Given the description of an element on the screen output the (x, y) to click on. 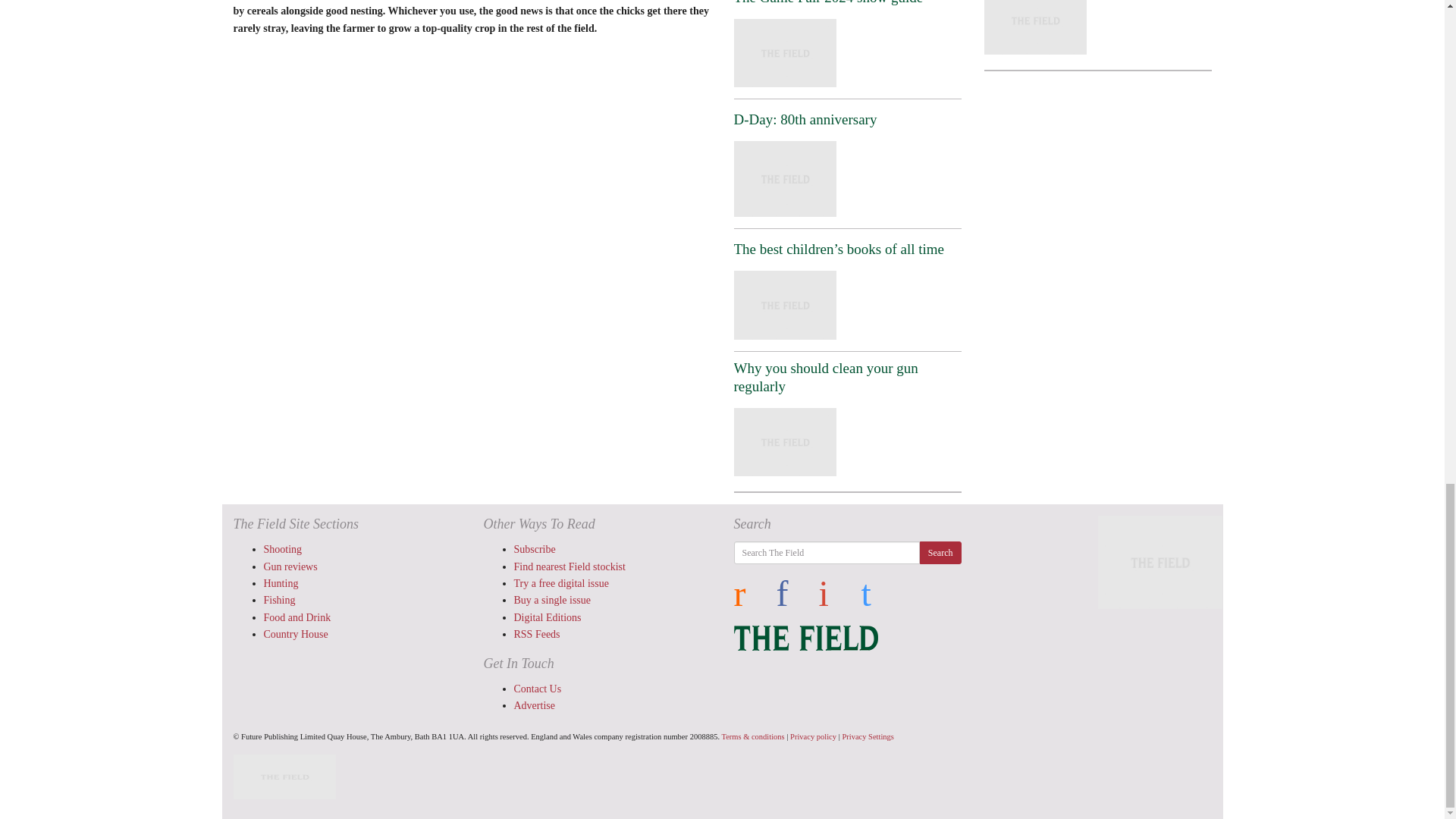
Latest Issue of THE FIELD (1154, 562)
The Field (805, 635)
